Given the description of an element on the screen output the (x, y) to click on. 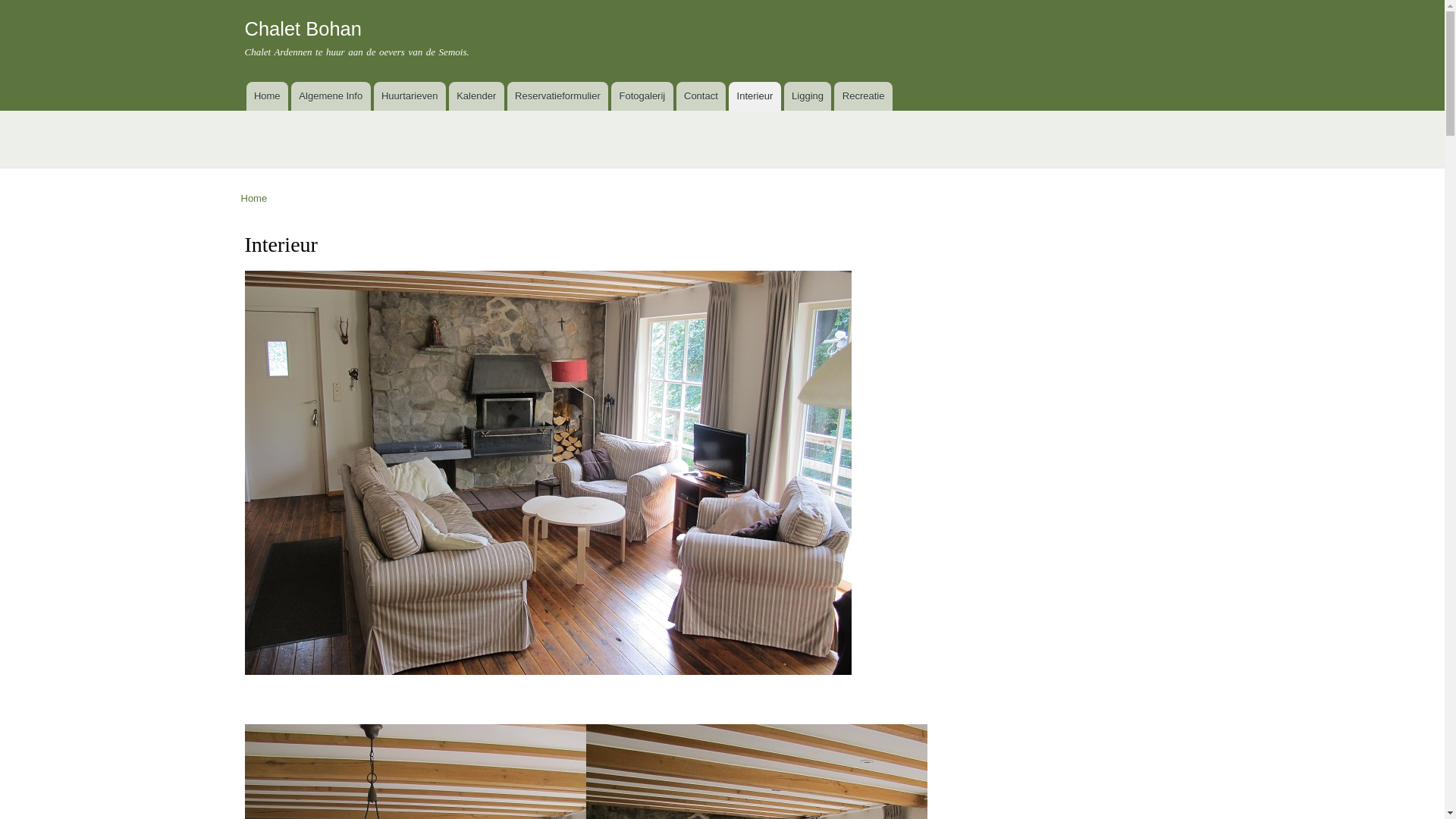
Ligging Element type: text (807, 95)
Recreatie Element type: text (862, 95)
Chalet Bohan Element type: text (302, 28)
Overslaan en naar de inhoud gaan Element type: text (696, 1)
Fotogalerij Element type: text (641, 95)
Algemene Info Element type: text (330, 95)
Huurtarieven Element type: text (409, 95)
Reservatieformulier Element type: text (557, 95)
Home Element type: text (266, 95)
Home Element type: text (254, 198)
Interieur Element type: text (754, 95)
Contact Element type: text (701, 95)
Kalender Element type: text (476, 95)
